Given the description of an element on the screen output the (x, y) to click on. 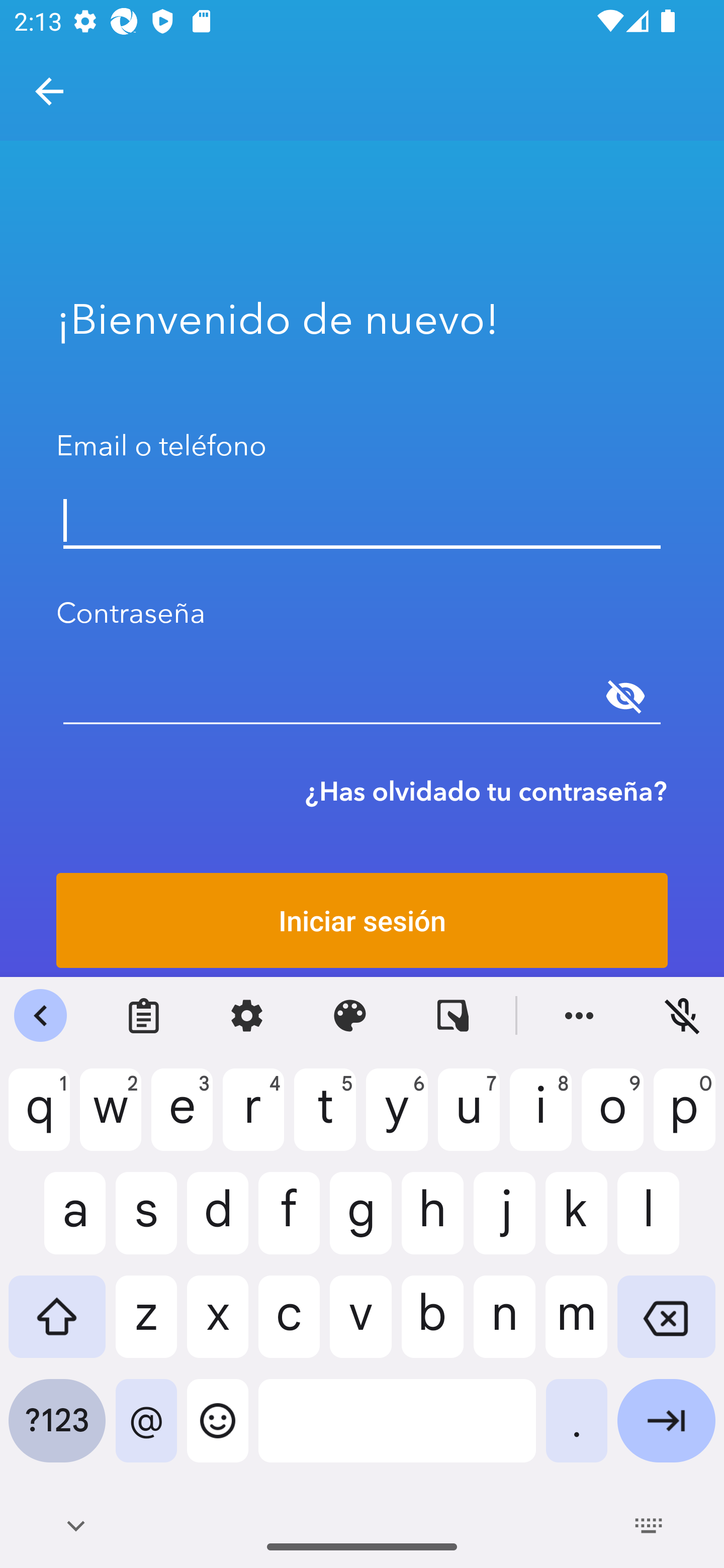
Navegar hacia arriba (49, 91)
Mostrar contraseña (625, 695)
¿Has olvidado tu contraseña? (486, 790)
Iniciar sesión (361, 920)
